Given the description of an element on the screen output the (x, y) to click on. 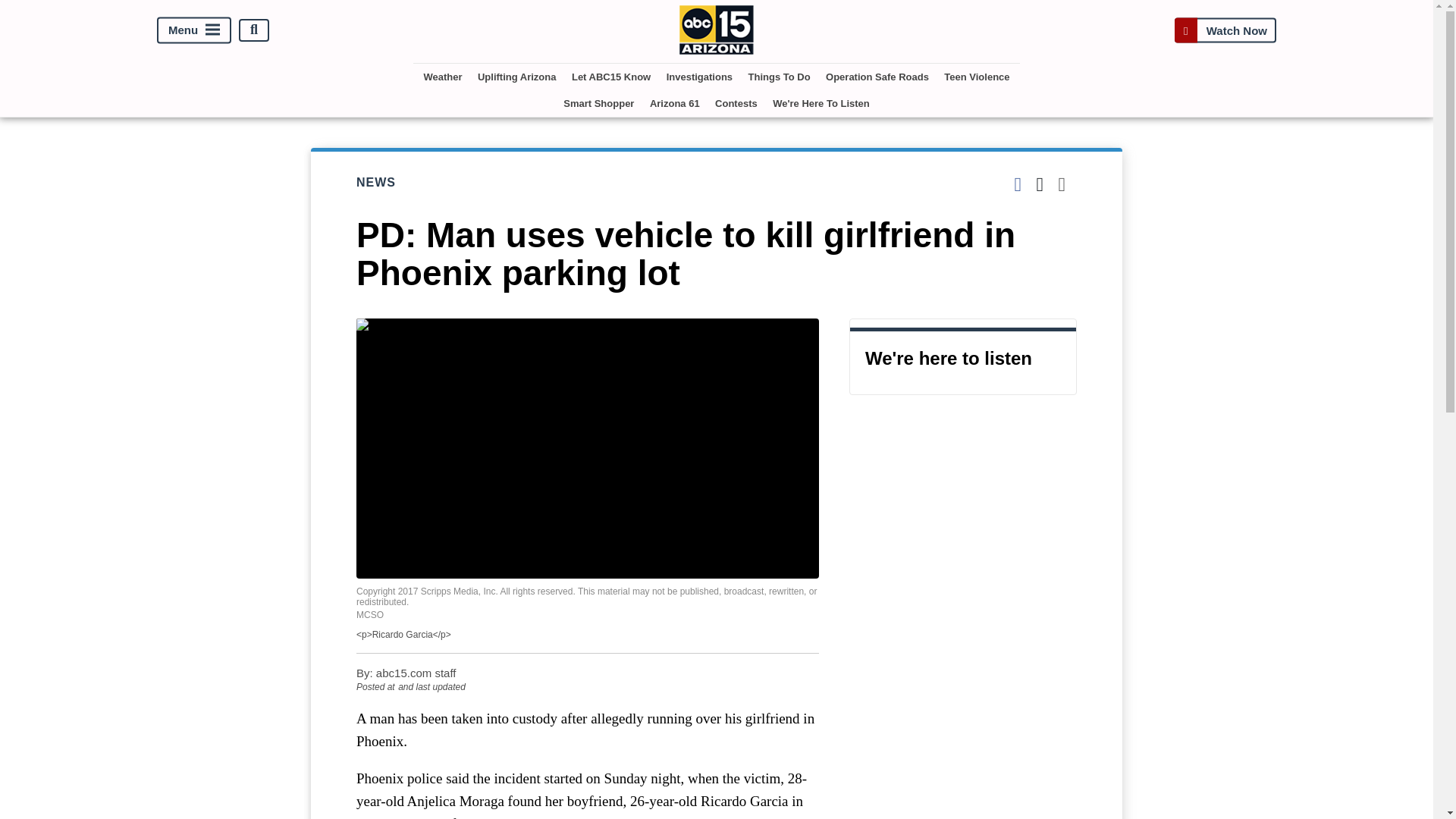
Menu (194, 29)
Watch Now (1224, 29)
